Given the description of an element on the screen output the (x, y) to click on. 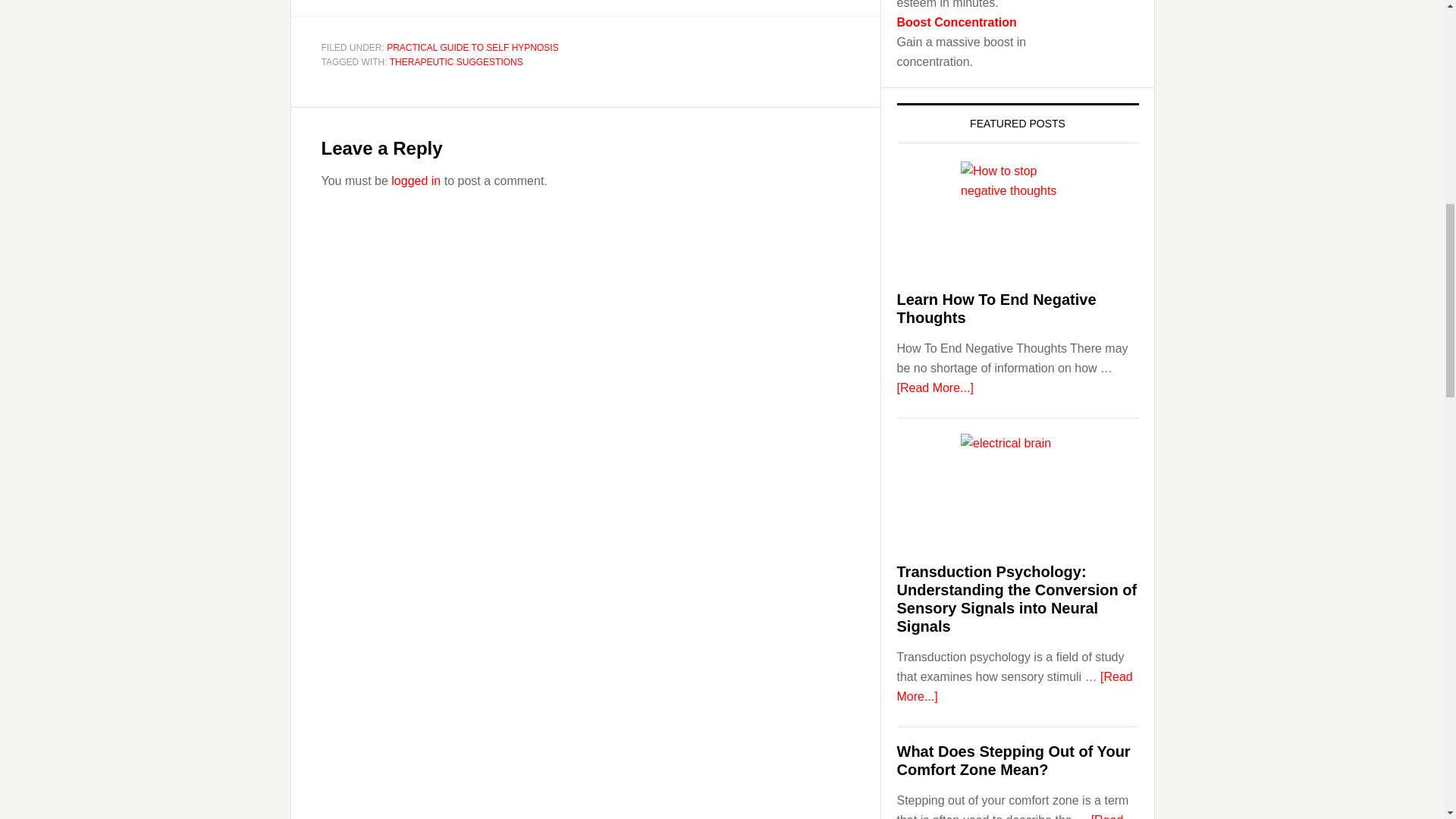
logged in (416, 180)
THERAPEUTIC SUGGESTIONS (456, 61)
PRACTICAL GUIDE TO SELF HYPNOSIS (473, 47)
Boost Concentration (956, 21)
